Given the description of an element on the screen output the (x, y) to click on. 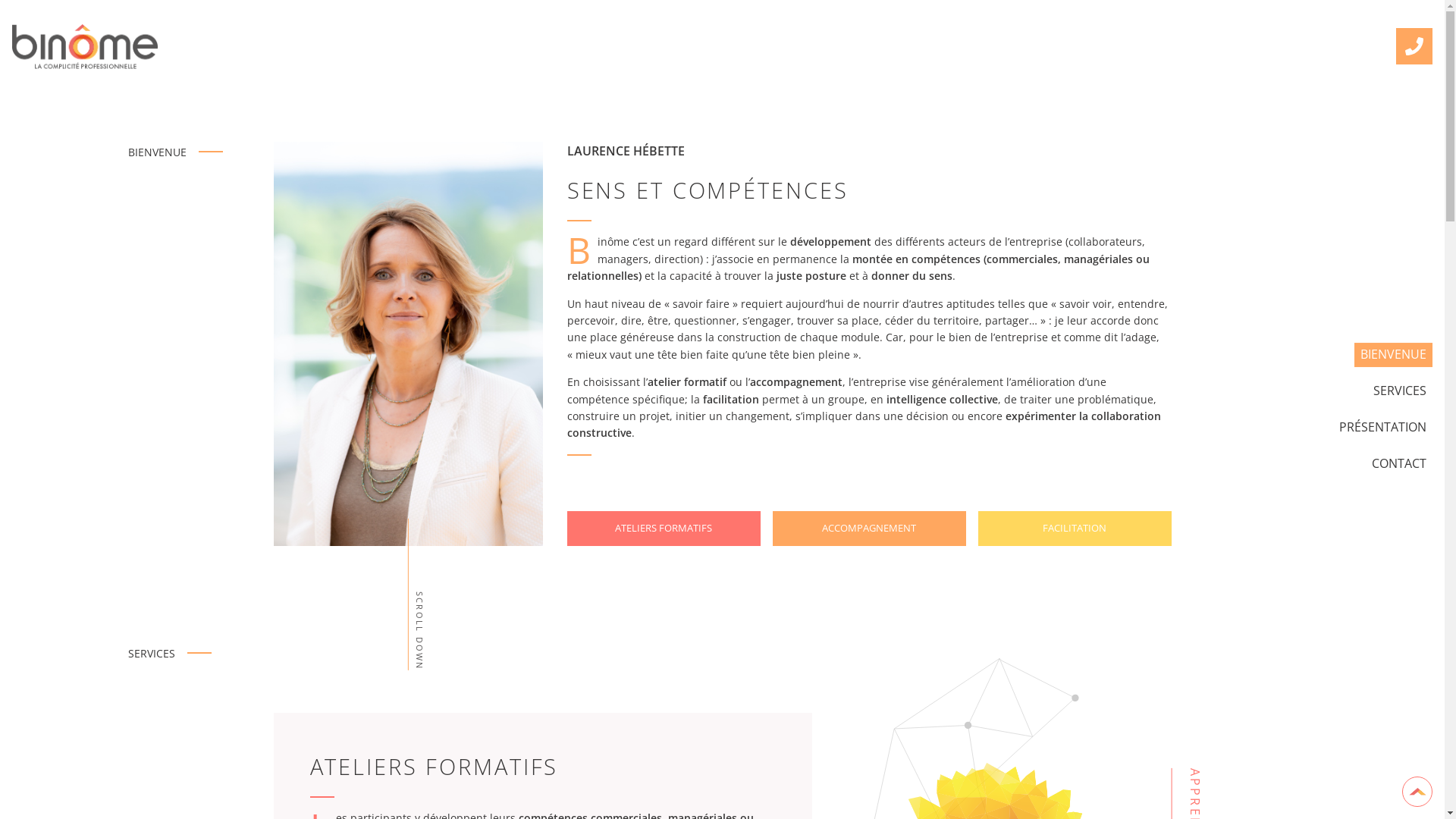
BIENVENUE Element type: text (1393, 354)
En haut Element type: text (1417, 791)
CONTACT Element type: text (1398, 463)
ATELIERS FORMATIFS Element type: text (663, 528)
SERVICES Element type: text (1399, 391)
ACCOMPAGNEMENT Element type: text (869, 528)
FACILITATION Element type: text (1074, 528)
